Given the description of an element on the screen output the (x, y) to click on. 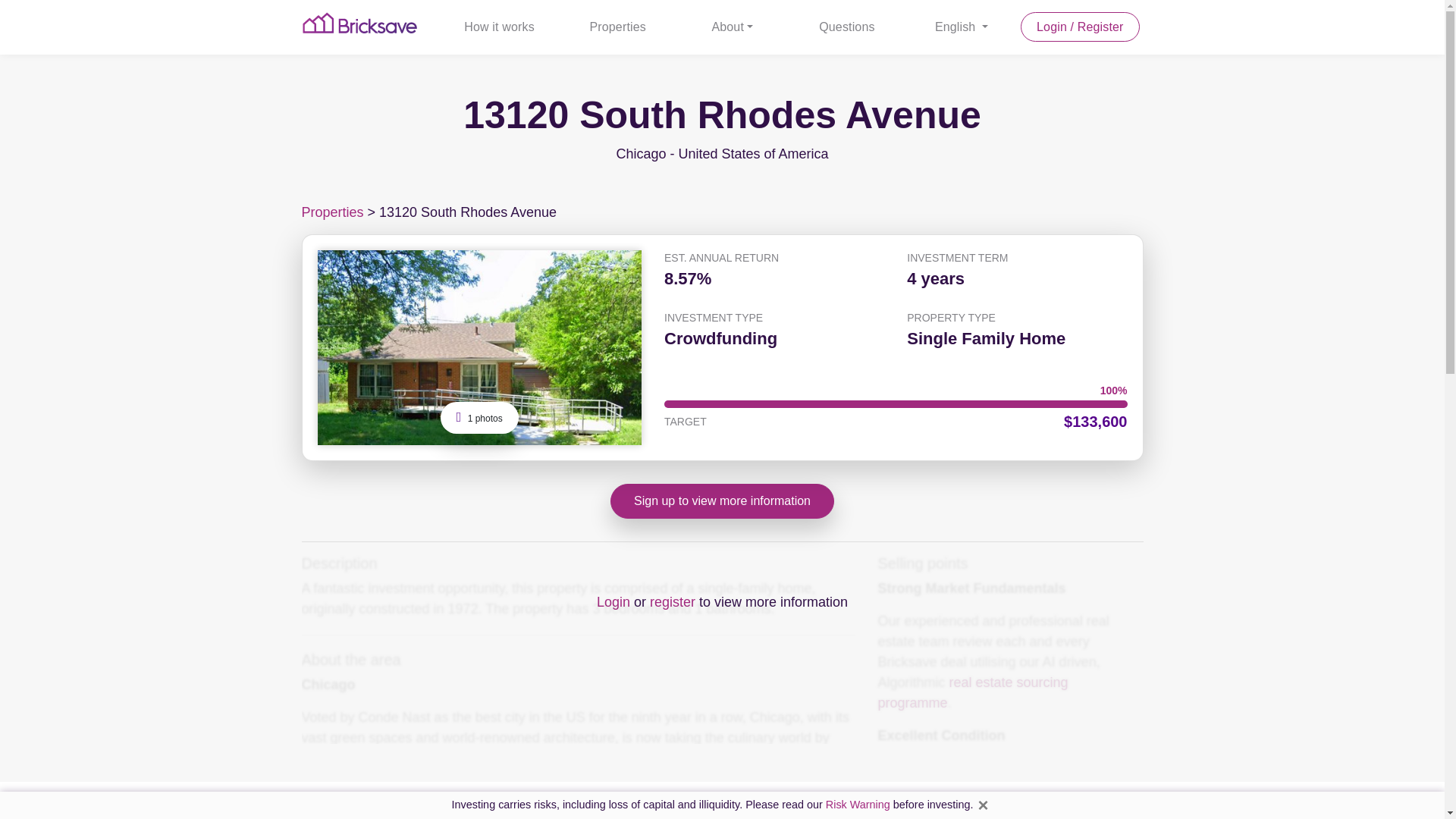
Login (613, 601)
Properties (618, 27)
1 photos (479, 418)
Properties (332, 212)
Questions (846, 27)
English (960, 27)
real estate sourcing programme (972, 692)
About (732, 27)
How it works (498, 27)
register (672, 601)
Sign up to view more information (722, 501)
